Given the description of an element on the screen output the (x, y) to click on. 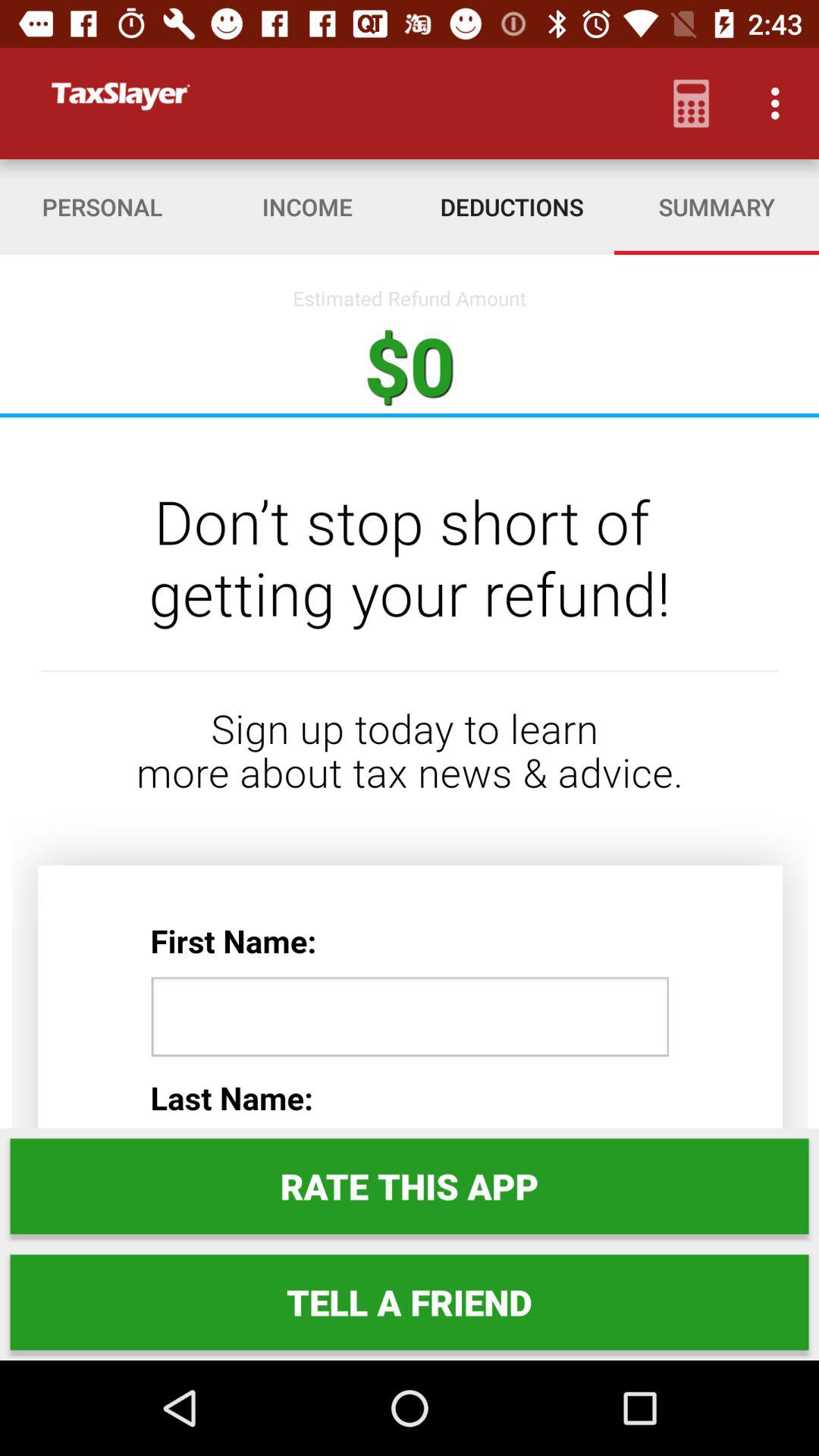
launch the item below rate this app item (409, 1302)
